Given the description of an element on the screen output the (x, y) to click on. 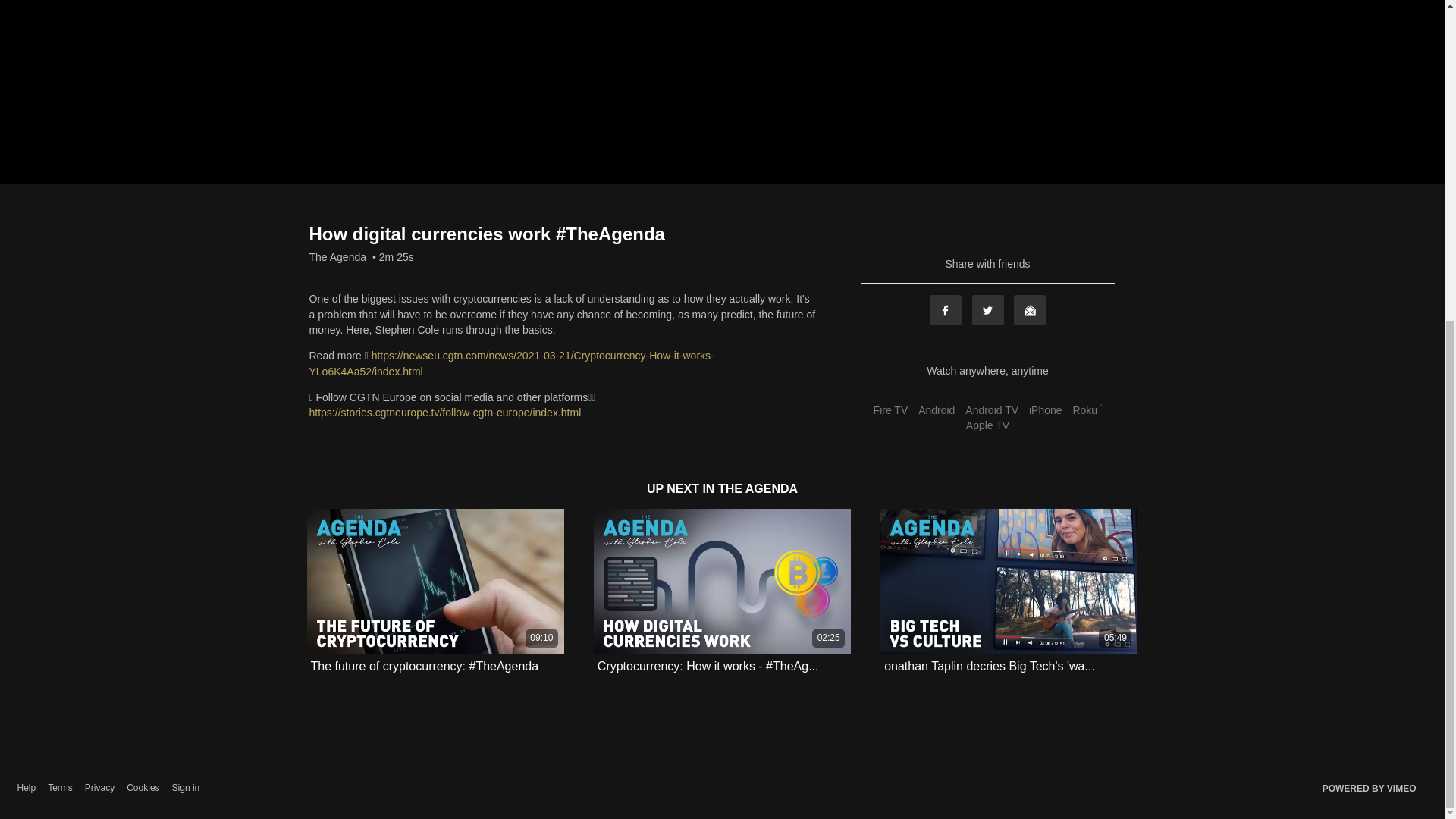
05:49 (1008, 580)
THE AGENDA (757, 488)
02:25 (722, 580)
Facebook (945, 309)
Android (936, 410)
Cookies (142, 788)
Apple TV (987, 425)
onathan Taplin decries Big Tech's 'wa... (988, 666)
onathan Taplin decries Big Tech's 'wa... (988, 666)
iPhone (1045, 410)
Terms (60, 788)
The Agenda (337, 256)
POWERED BY VIMEO (1369, 788)
Privacy (99, 788)
Sign in (185, 788)
